Given the description of an element on the screen output the (x, y) to click on. 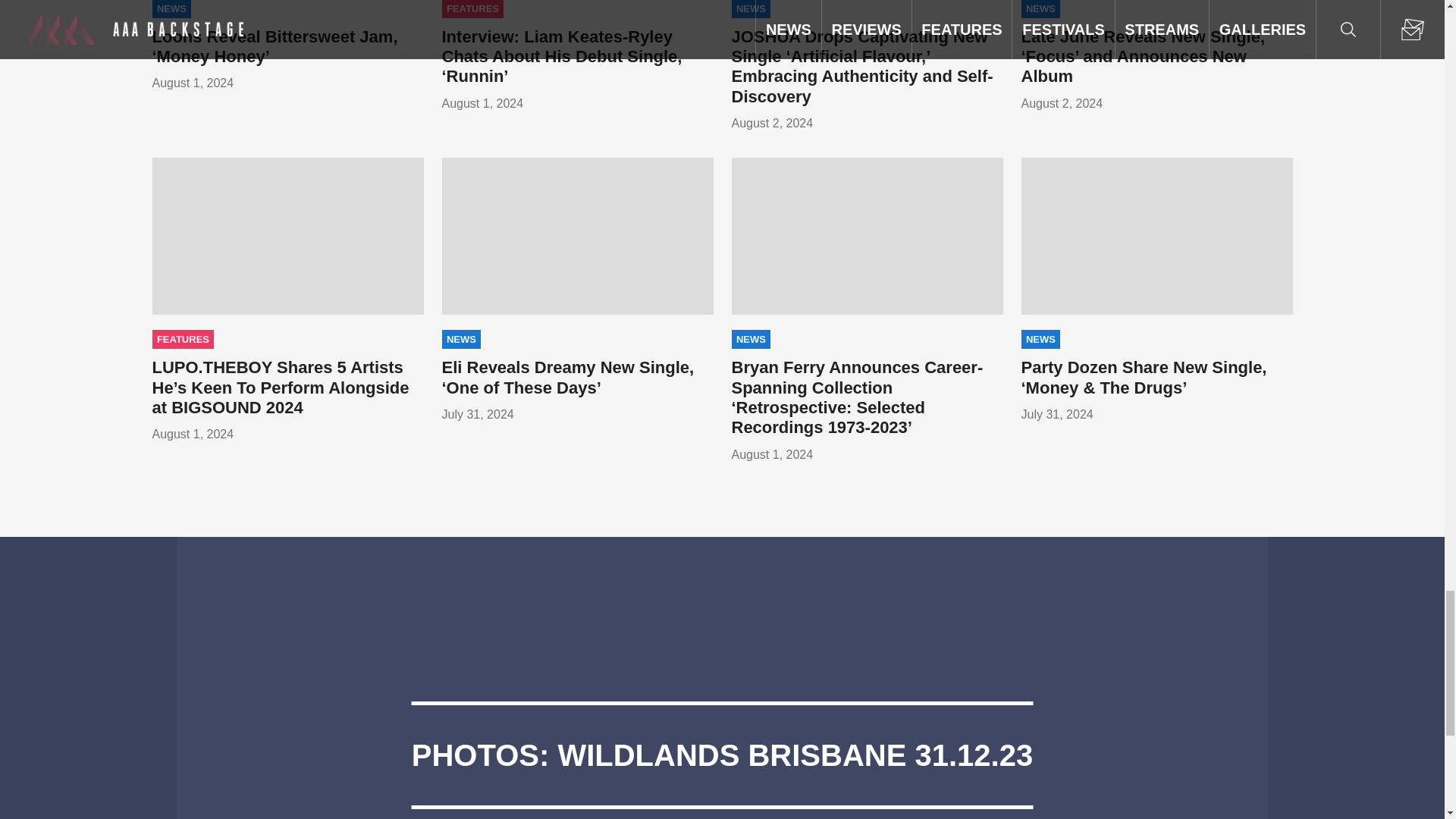
NEWS (460, 9)
NEWS (170, 9)
